Given the description of an element on the screen output the (x, y) to click on. 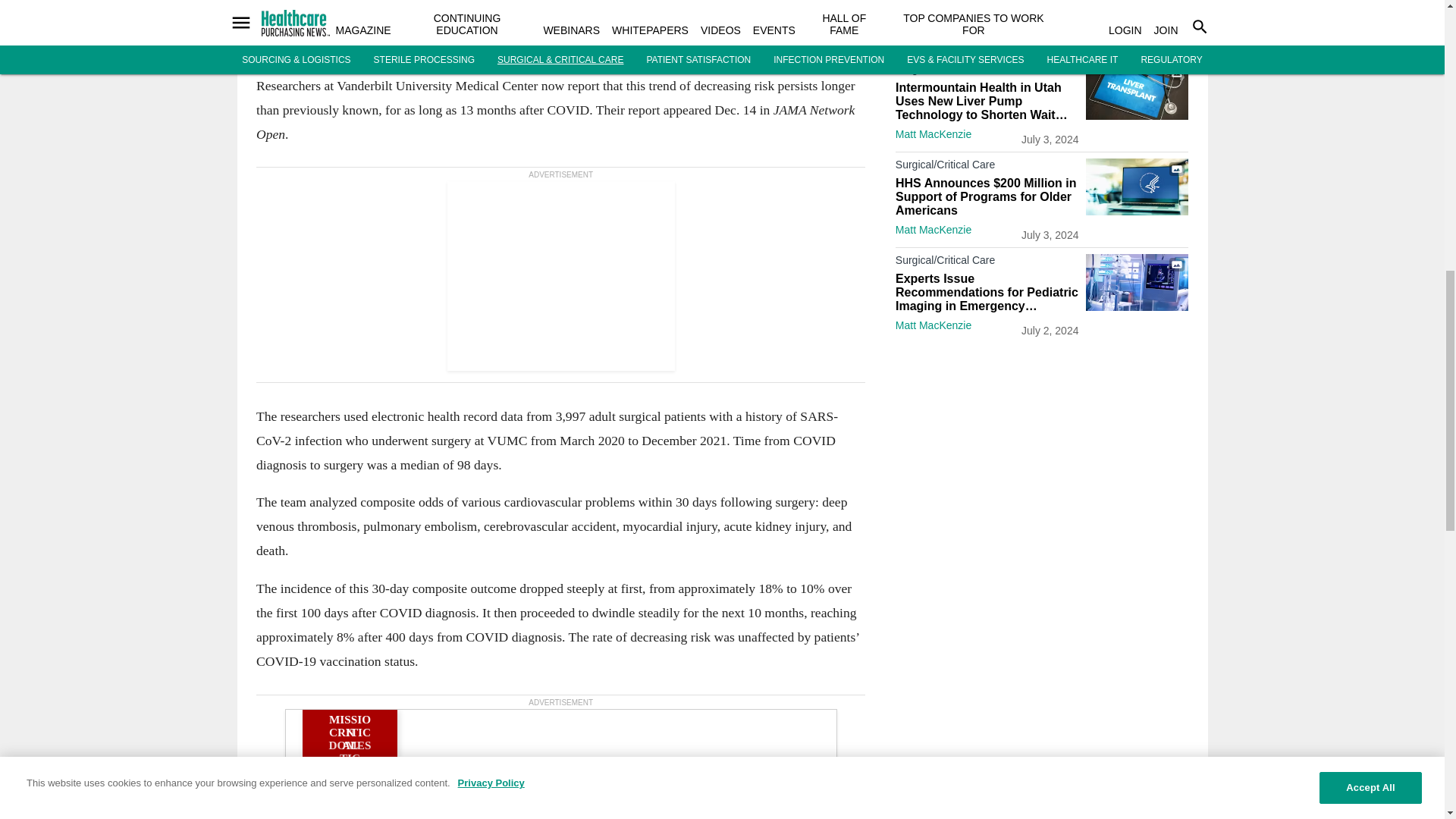
3rd party ad content (560, 276)
3rd party ad content (559, 743)
3rd party ad content (1042, 579)
